Given the description of an element on the screen output the (x, y) to click on. 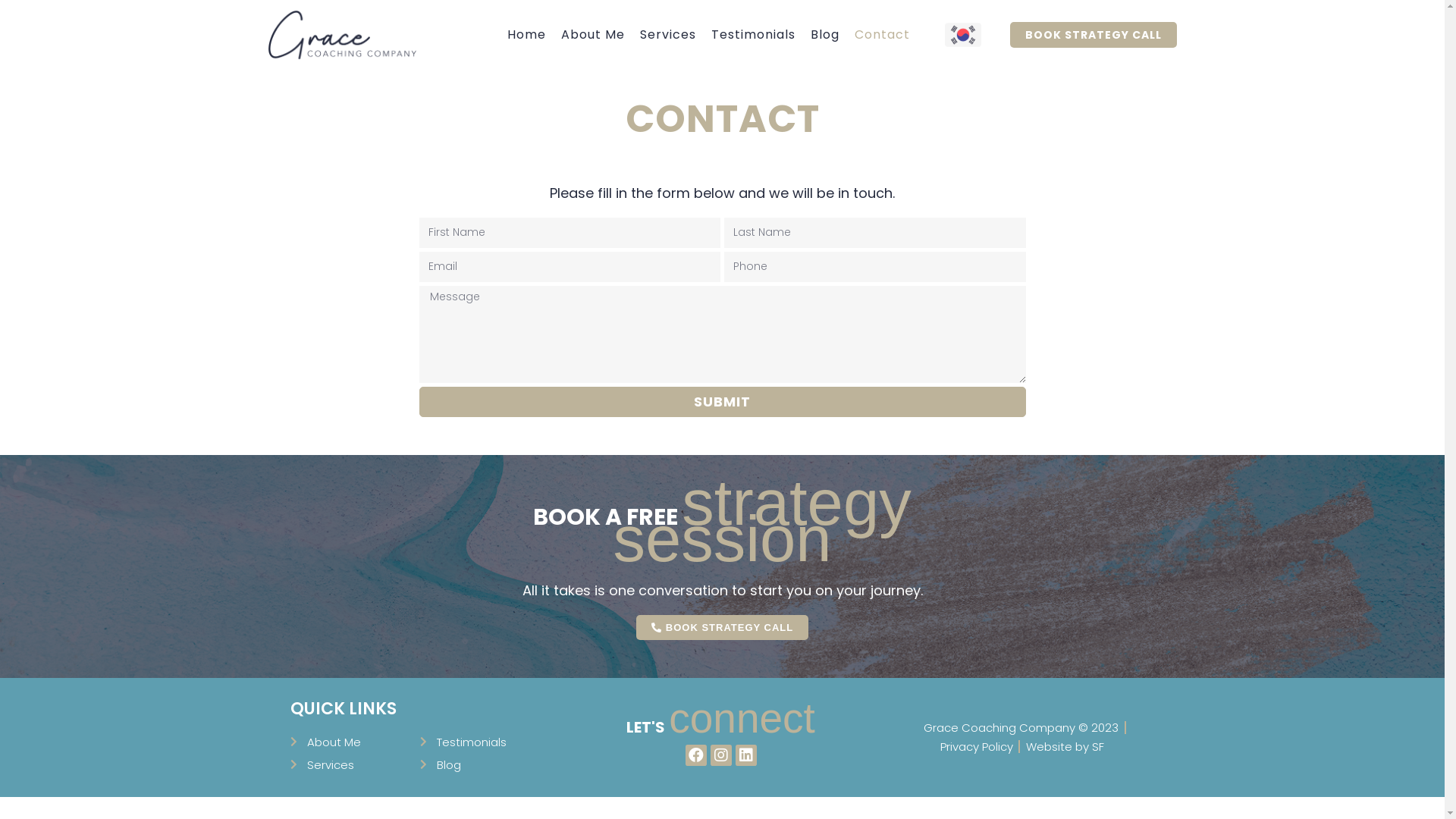
BOOK STRATEGY CALL Element type: text (722, 627)
About Me Element type: text (354, 741)
Blog Element type: text (824, 34)
Blog Element type: text (484, 764)
About Me Element type: text (592, 34)
Website by SF Element type: text (1065, 746)
Testimonials Element type: text (484, 741)
Home Element type: text (526, 34)
Privacy Policy Element type: text (976, 746)
Contact Element type: text (882, 34)
SUBMIT Element type: text (721, 401)
Services Element type: text (668, 34)
BOOK STRATEGY CALL Element type: text (1093, 34)
Testimonials Element type: text (753, 34)
Services Element type: text (354, 764)
